Given the description of an element on the screen output the (x, y) to click on. 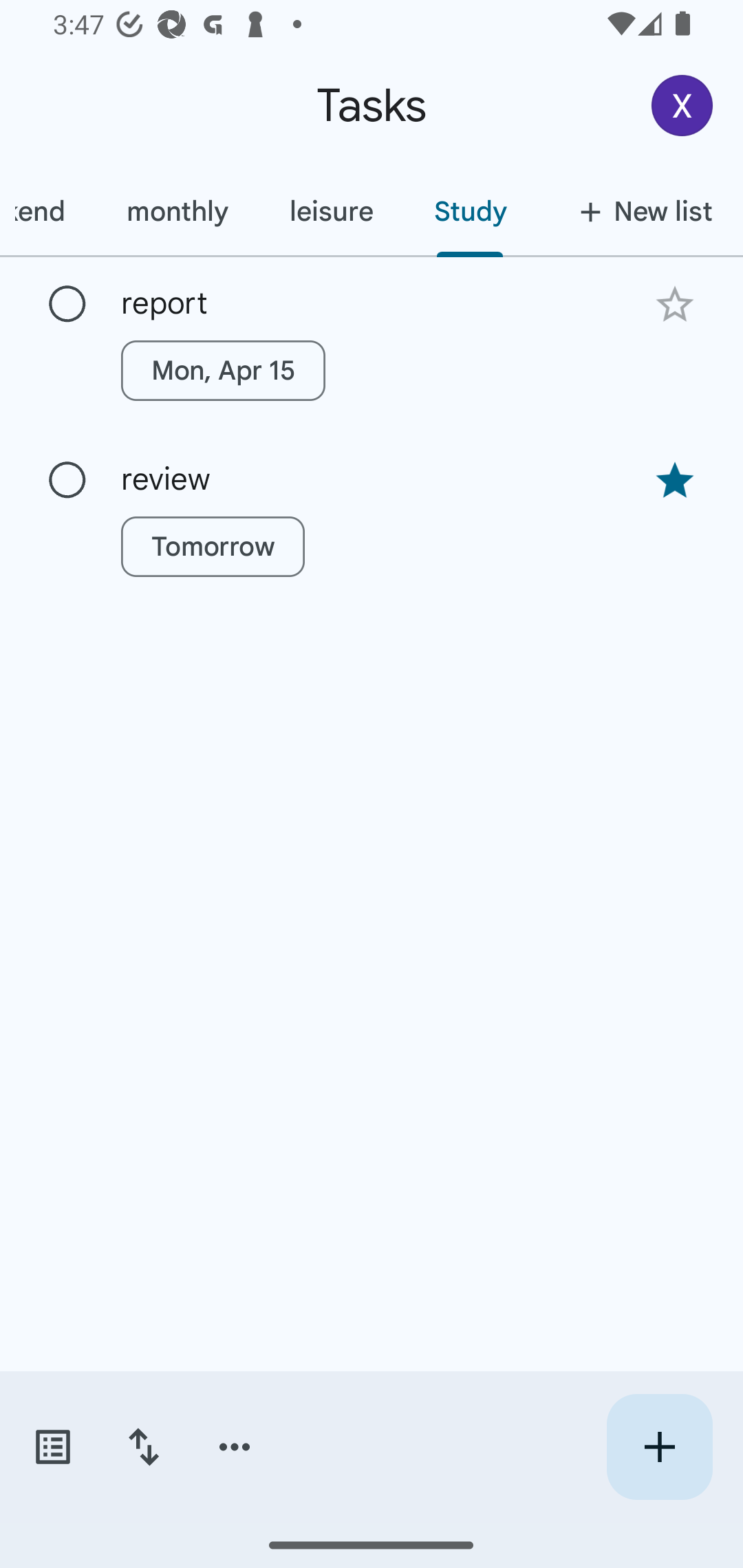
weekend (47, 211)
monthly (176, 211)
leisure (330, 211)
New list (640, 211)
Add star (674, 303)
Mark as complete (67, 304)
Mon, Apr 15 (223, 369)
Remove star (674, 480)
Mark as complete (67, 480)
Tomorrow (212, 546)
Switch task lists (52, 1447)
Create new task (659, 1446)
Change sort order (143, 1446)
More options (234, 1446)
